Given the description of an element on the screen output the (x, y) to click on. 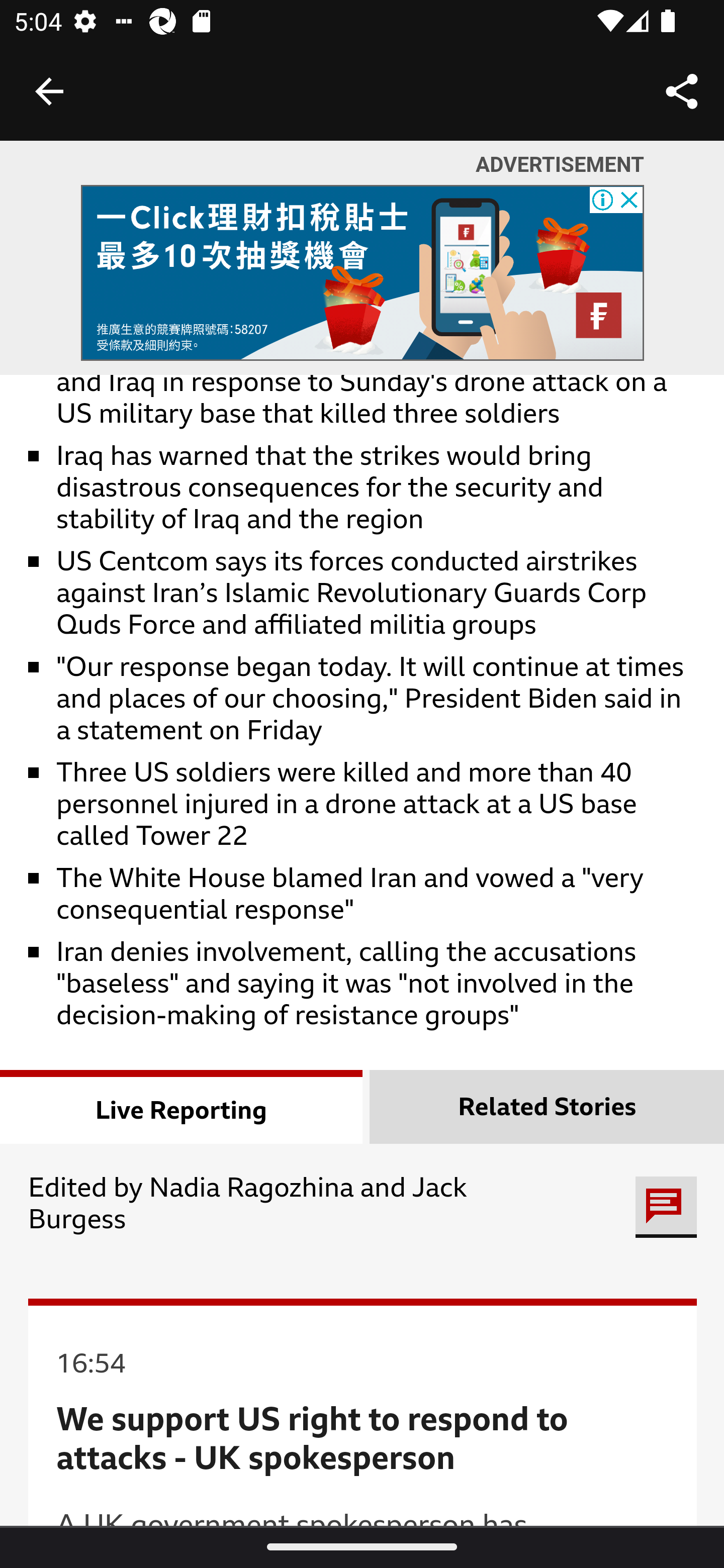
Back (49, 91)
Share (681, 90)
Live Reporting (182, 1107)
Related Stories (546, 1107)
Get involved (665, 1208)
